Given the description of an element on the screen output the (x, y) to click on. 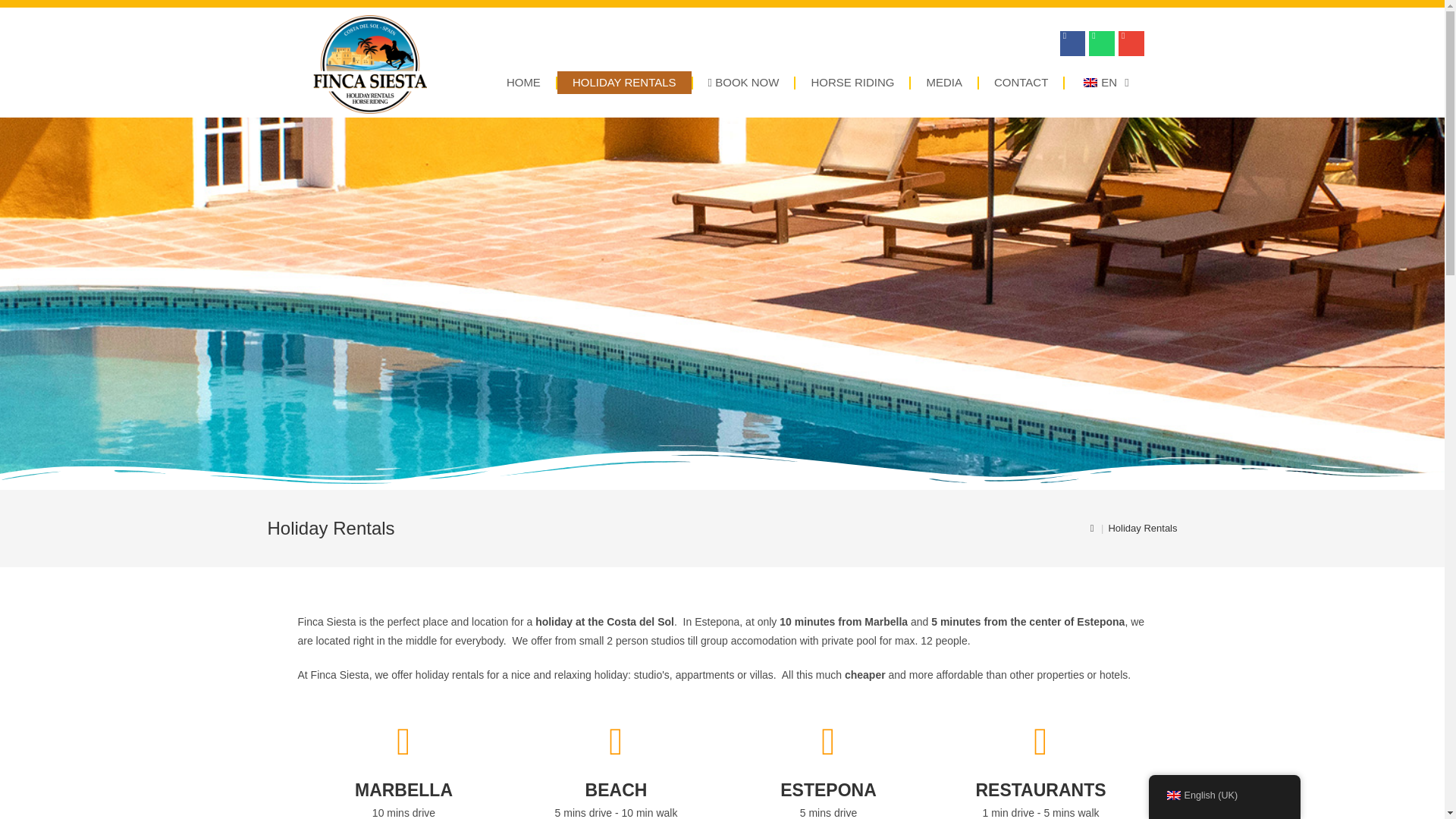
MEDIA (943, 82)
 BOOK NOW (743, 82)
FincaSiesta - Logo Marbella Estepona (369, 64)
HORSE RIDING (851, 82)
CONTACT (1020, 82)
HOLIDAY RENTALS (624, 82)
HOME (524, 82)
EN (1103, 82)
Holiday Rentals (1142, 527)
